Given the description of an element on the screen output the (x, y) to click on. 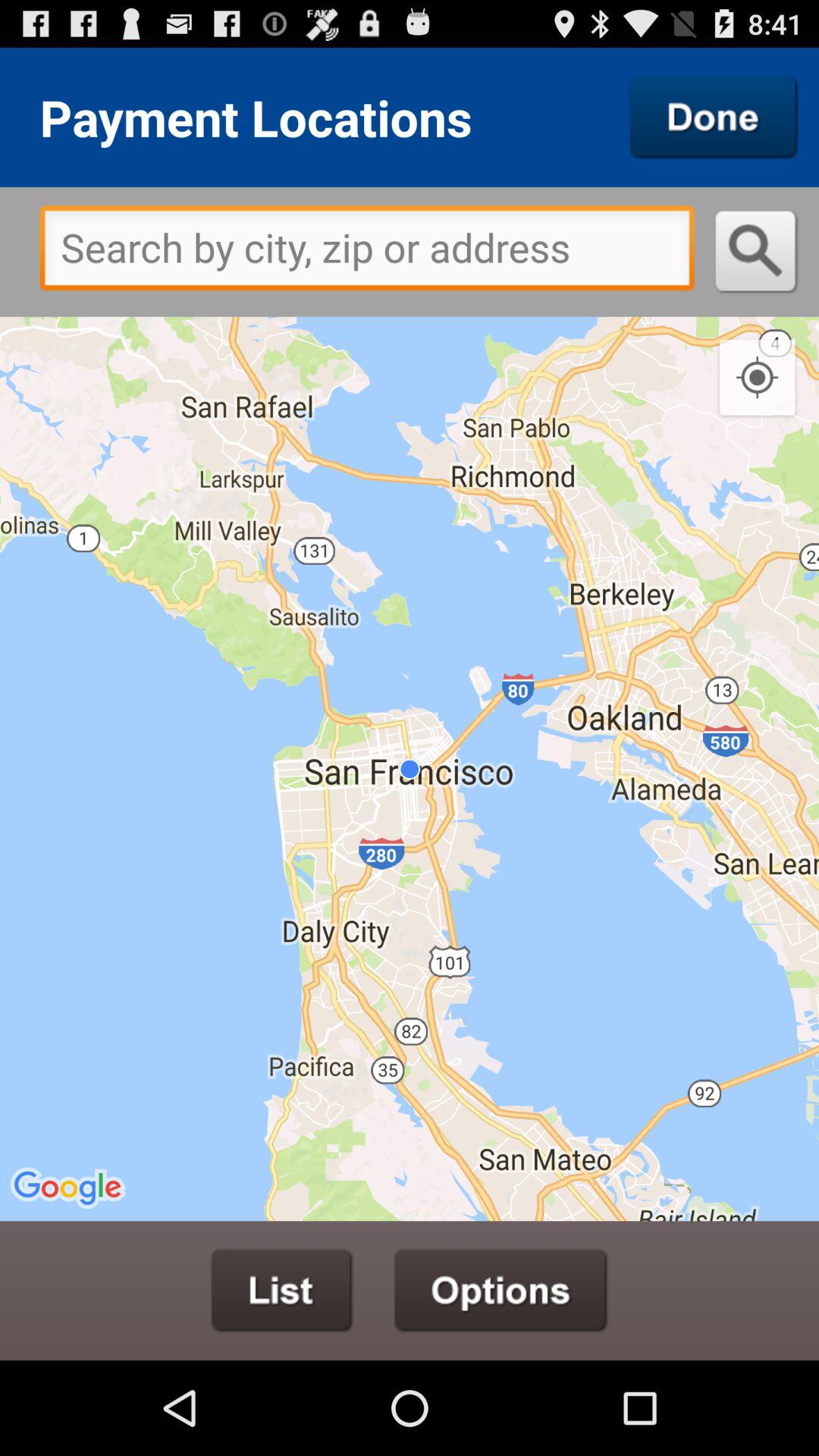
open options (500, 1290)
